Given the description of an element on the screen output the (x, y) to click on. 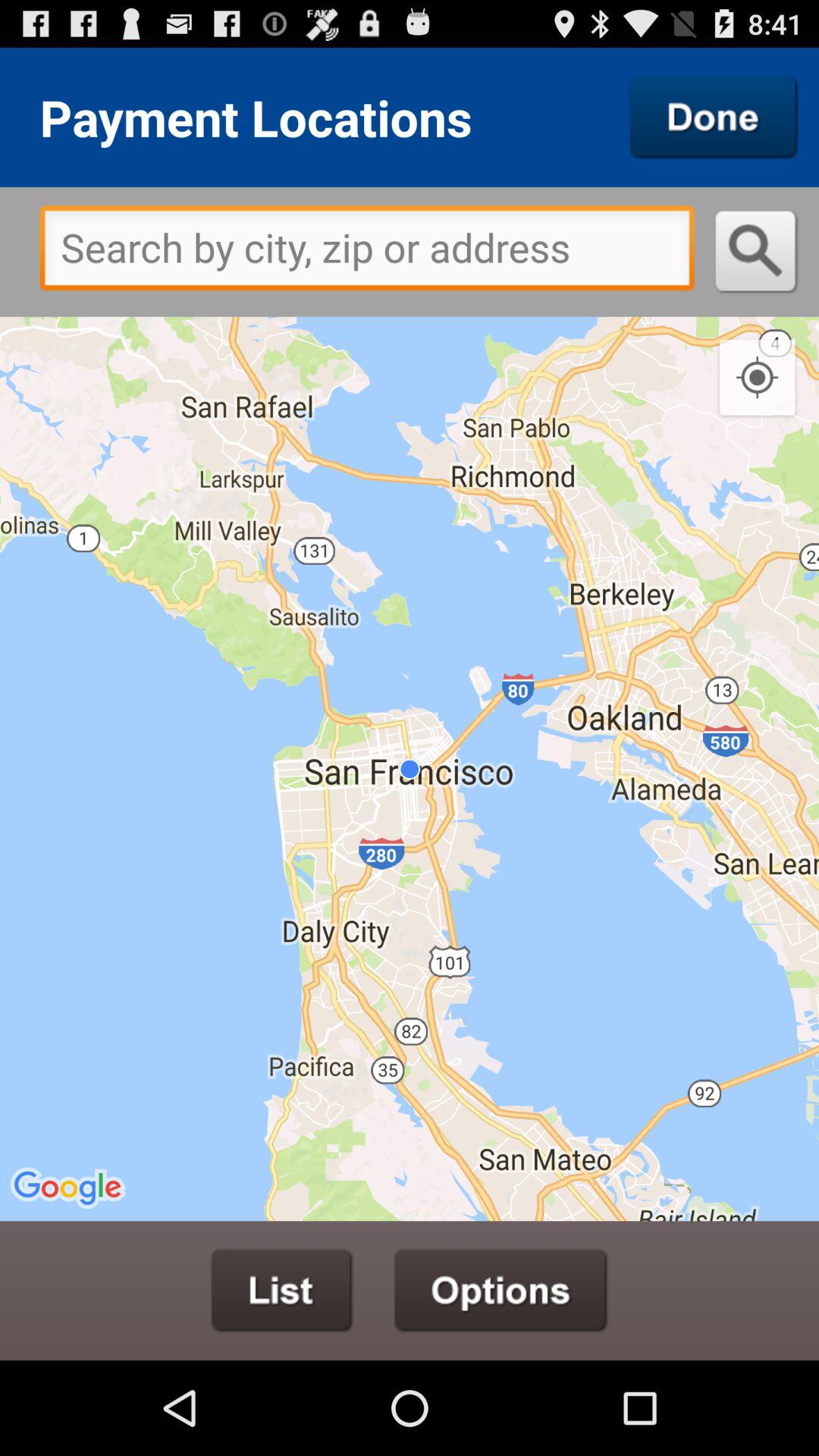
open options (500, 1290)
